Given the description of an element on the screen output the (x, y) to click on. 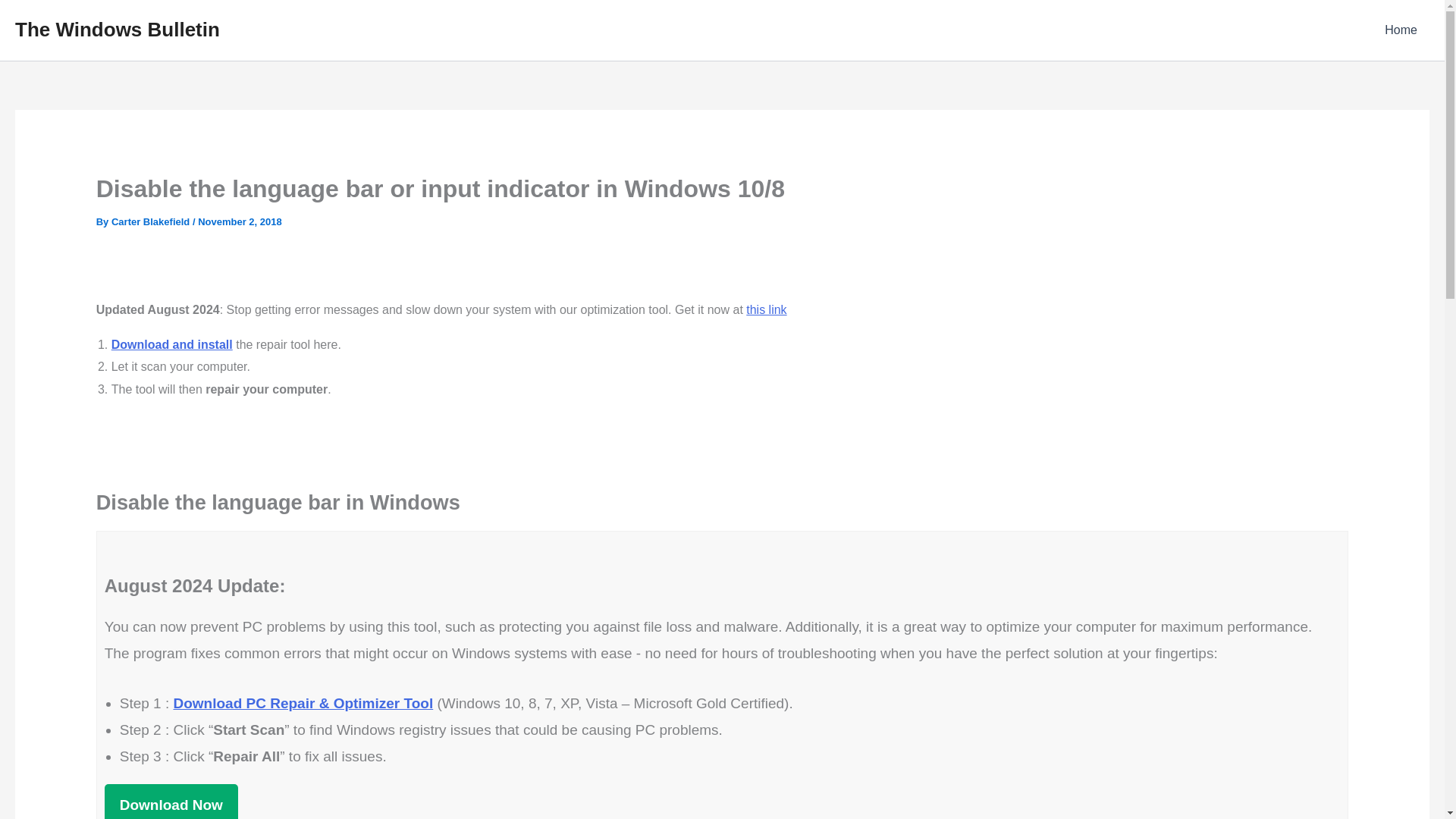
The Windows Bulletin (116, 29)
this link (765, 309)
Download and install (172, 344)
Download Now (171, 801)
Carter Blakefield (152, 221)
View all posts by Carter Blakefield (152, 221)
Home (1401, 30)
